Given the description of an element on the screen output the (x, y) to click on. 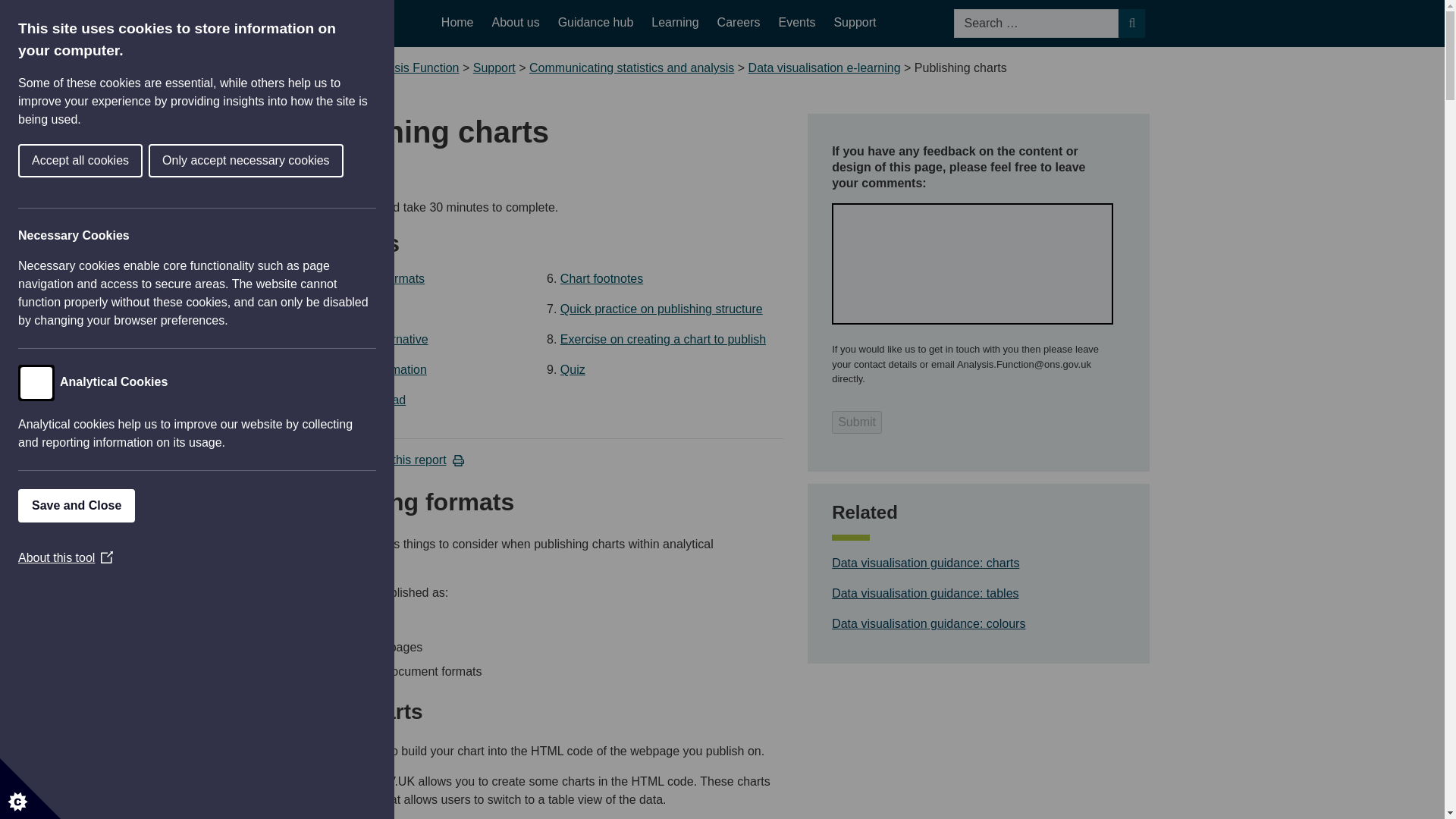
Support (494, 67)
About us (516, 22)
The text alternative (429, 339)
Print or download this report (378, 460)
Data visualisation e-learning (824, 67)
Data download (429, 399)
Learning (674, 22)
Careers (738, 22)
Publishing formats (429, 278)
Source information (429, 369)
